Given the description of an element on the screen output the (x, y) to click on. 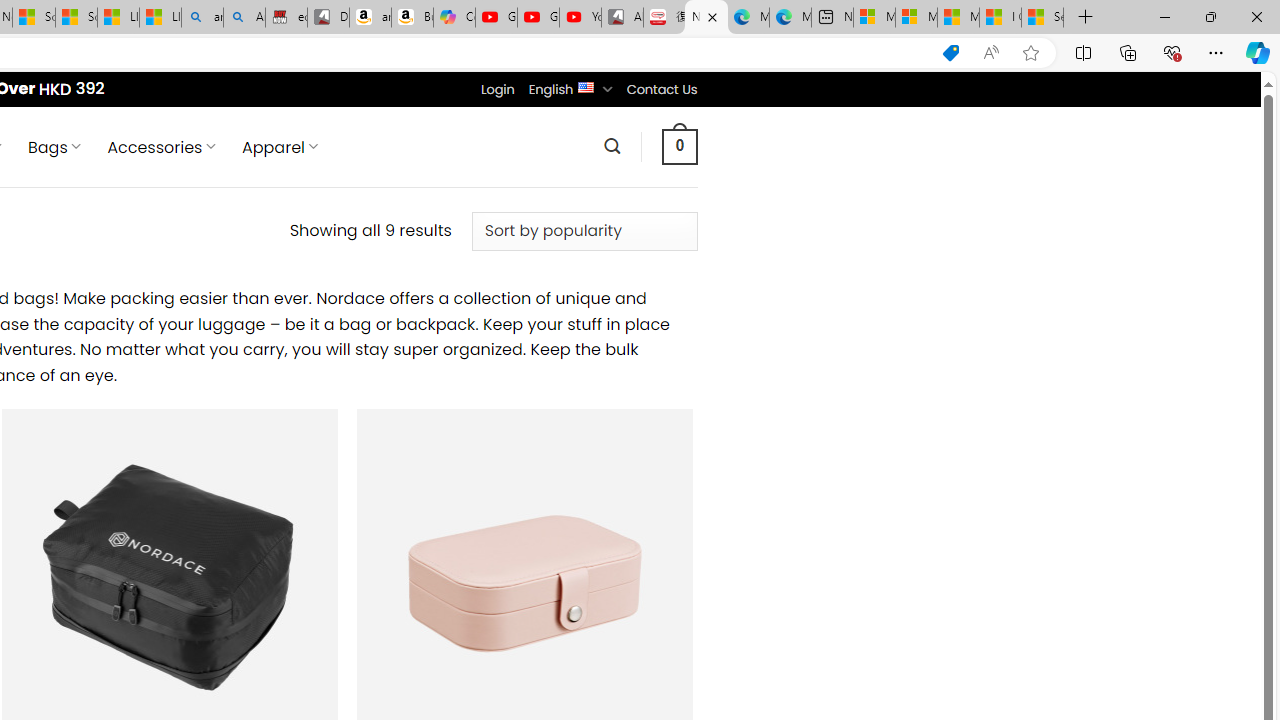
Contact Us (661, 89)
Gloom - YouTube (538, 17)
  0   (679, 146)
Close tab (712, 16)
New Tab (1085, 17)
YouTube Kids - An App Created for Kids to Explore Content (580, 17)
Microsoft Start (958, 17)
Minimize (1164, 16)
